Given the description of an element on the screen output the (x, y) to click on. 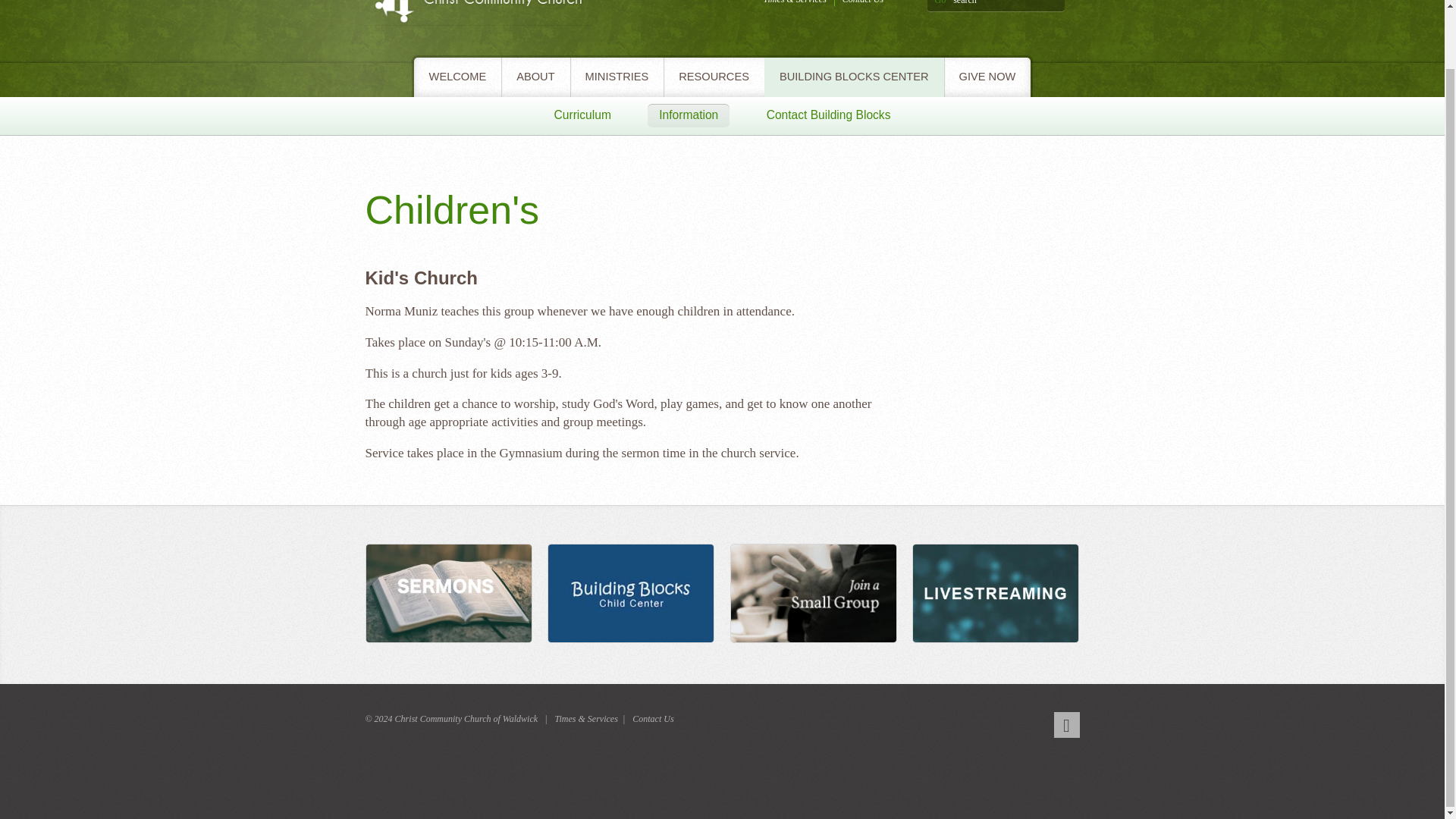
Contact Us (863, 2)
Facebook (1067, 724)
Welcome (996, 594)
Small Group (812, 594)
ABOUT (534, 77)
WELCOME (457, 77)
Go (939, 2)
Contact Us (863, 2)
MINISTRIES (616, 77)
Sermons (448, 594)
search (1008, 5)
Building Blocks (630, 594)
Contact Us (652, 718)
